Given the description of an element on the screen output the (x, y) to click on. 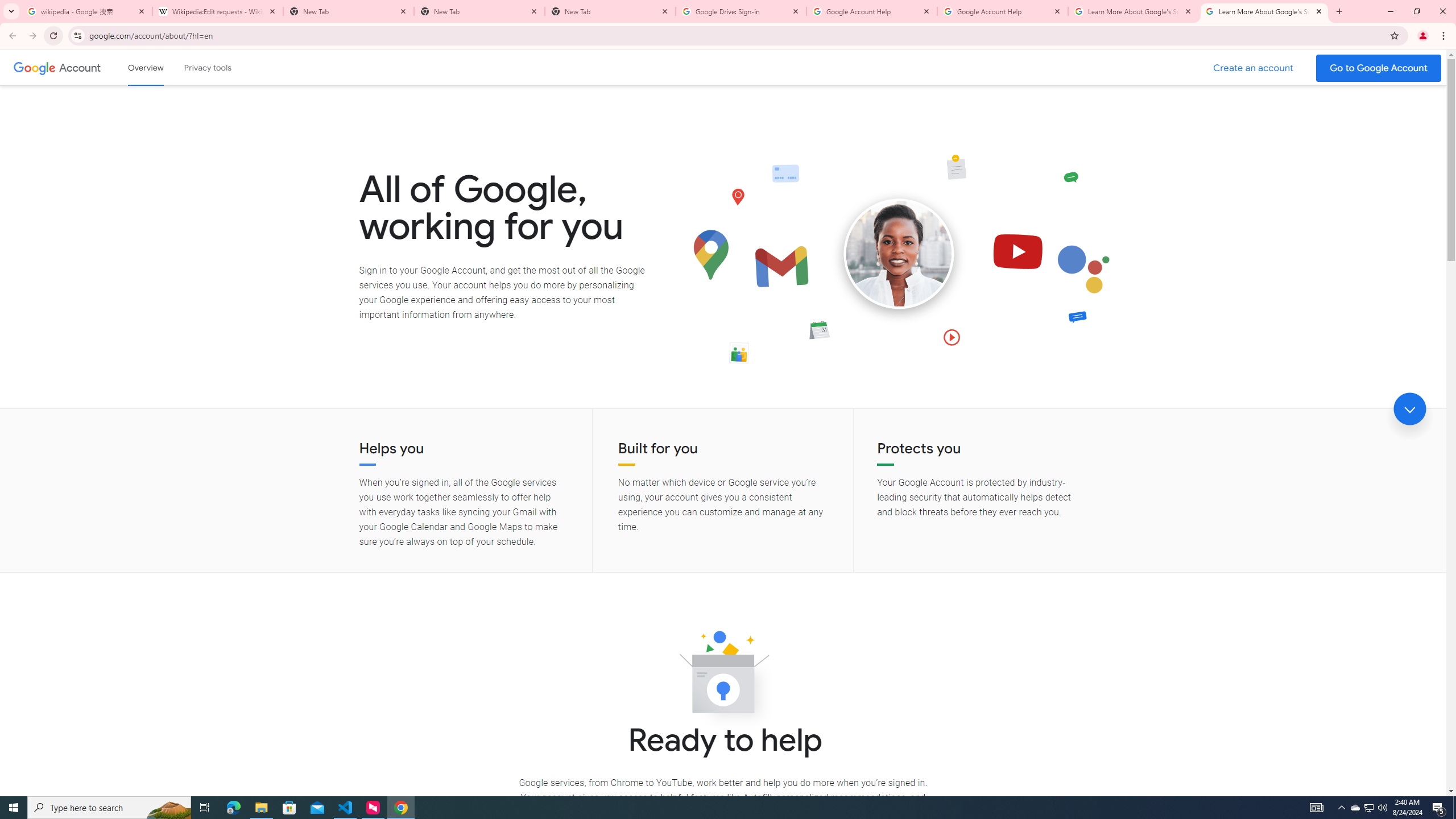
New Tab (610, 11)
New Tab (479, 11)
